Given the description of an element on the screen output the (x, y) to click on. 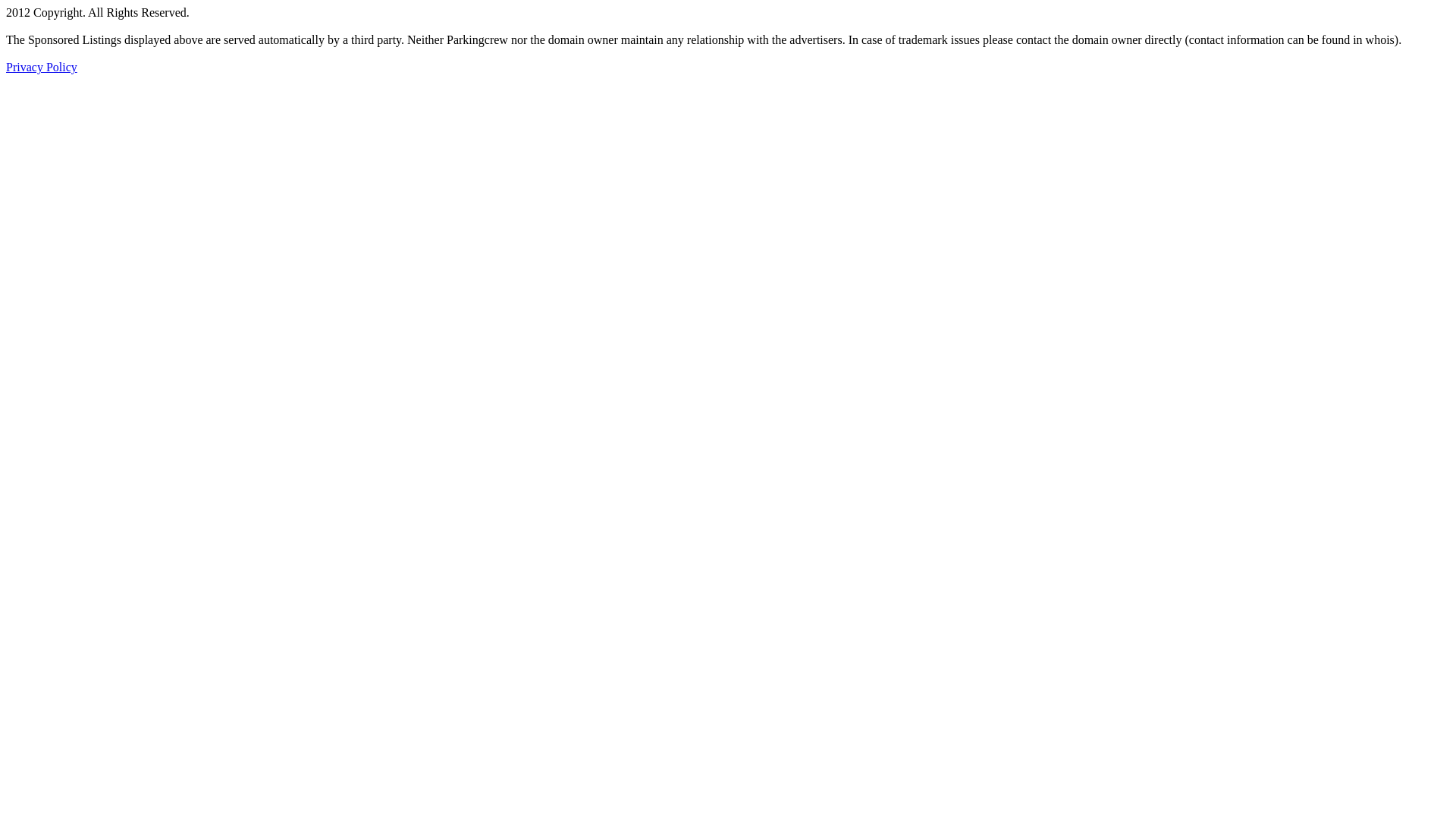
Privacy Policy Element type: text (41, 66)
